Given the description of an element on the screen output the (x, y) to click on. 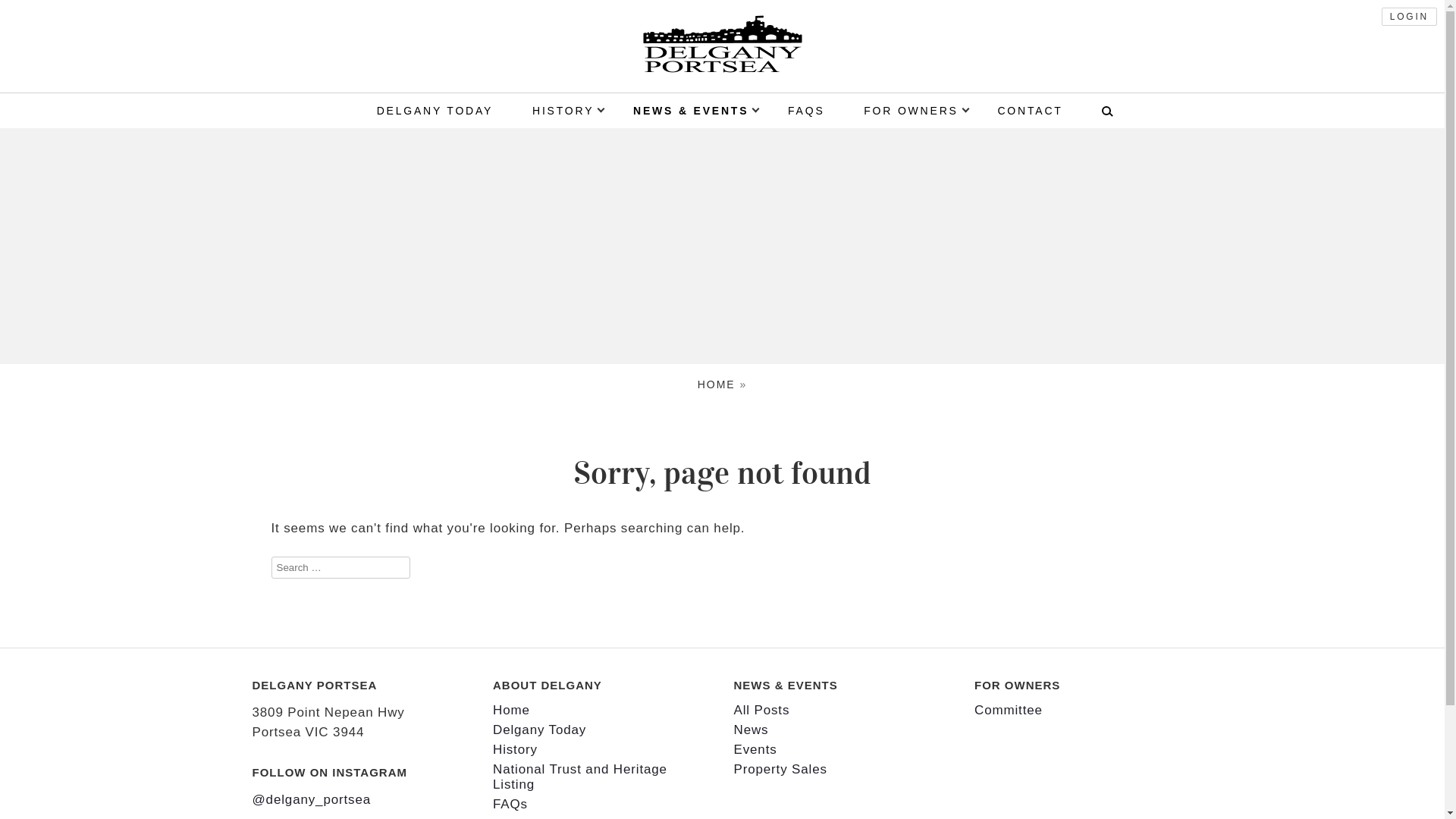
FAQS Element type: text (806, 110)
FOR OWNERS Element type: text (910, 110)
Home Element type: text (511, 709)
National Trust and Heritage Listing Element type: text (579, 776)
FAQs Element type: text (509, 804)
Committee Element type: text (1008, 709)
HISTORY Element type: text (562, 110)
SKIP TO CONTENT Element type: text (785, 98)
@delgany_portsea Element type: text (310, 799)
CONTACT Element type: text (1029, 110)
Search Element type: text (25, 13)
All Posts Element type: text (762, 709)
HOME Element type: text (716, 384)
Delgany Today Element type: text (539, 729)
DELGANY TODAY Element type: text (434, 110)
Property Sales Element type: text (780, 769)
LOGIN Element type: text (1409, 16)
History Element type: text (514, 749)
Events Element type: text (755, 749)
News Element type: text (751, 729)
NEWS & EVENTS Element type: text (690, 110)
